Given the description of an element on the screen output the (x, y) to click on. 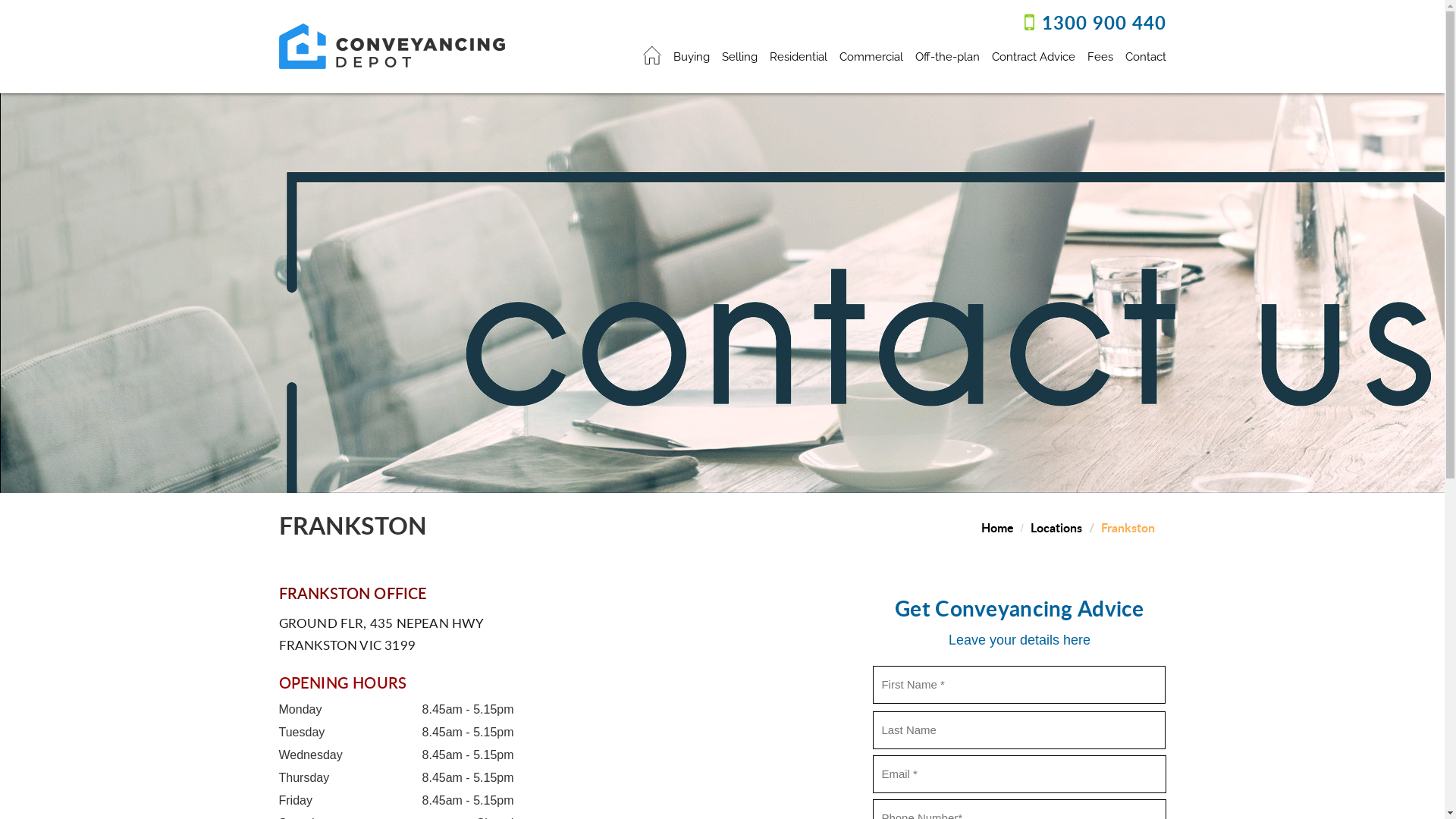
Conveyancing Melbourne Lawyers Element type: hover (392, 45)
Buying Element type: text (691, 54)
Contact Element type: text (1145, 54)
Residential Element type: text (797, 54)
Selling Element type: text (739, 54)
Commercial Element type: text (870, 54)
Off-the-plan Element type: text (946, 54)
Home Element type: text (997, 527)
Fees Element type: text (1100, 54)
1300 900 440 Element type: text (1103, 25)
Contract Advice Element type: text (1033, 54)
Home Element type: hover (652, 57)
Locations Element type: text (1056, 527)
